Given the description of an element on the screen output the (x, y) to click on. 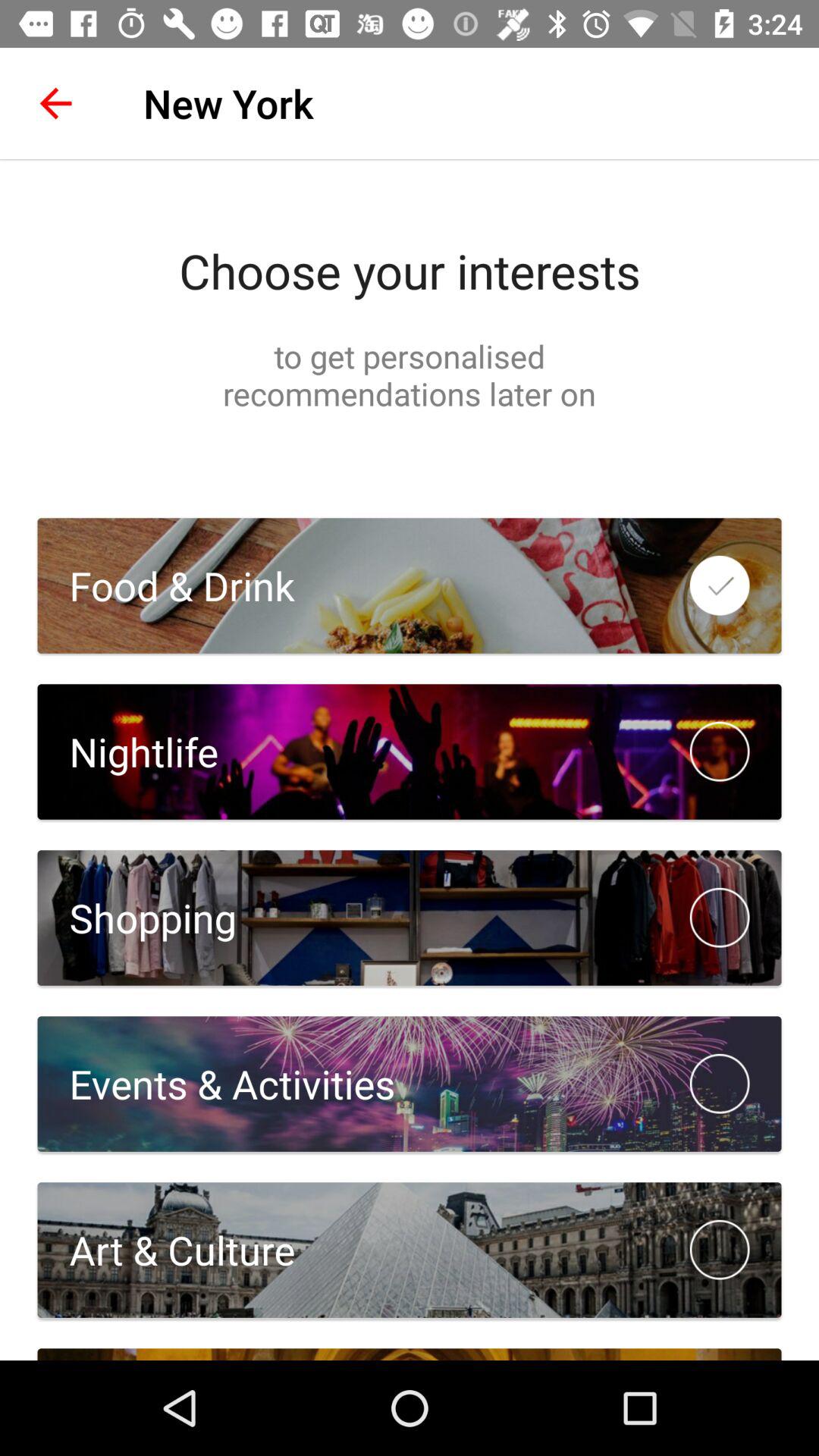
turn off the item to the left of the new york item (55, 103)
